Given the description of an element on the screen output the (x, y) to click on. 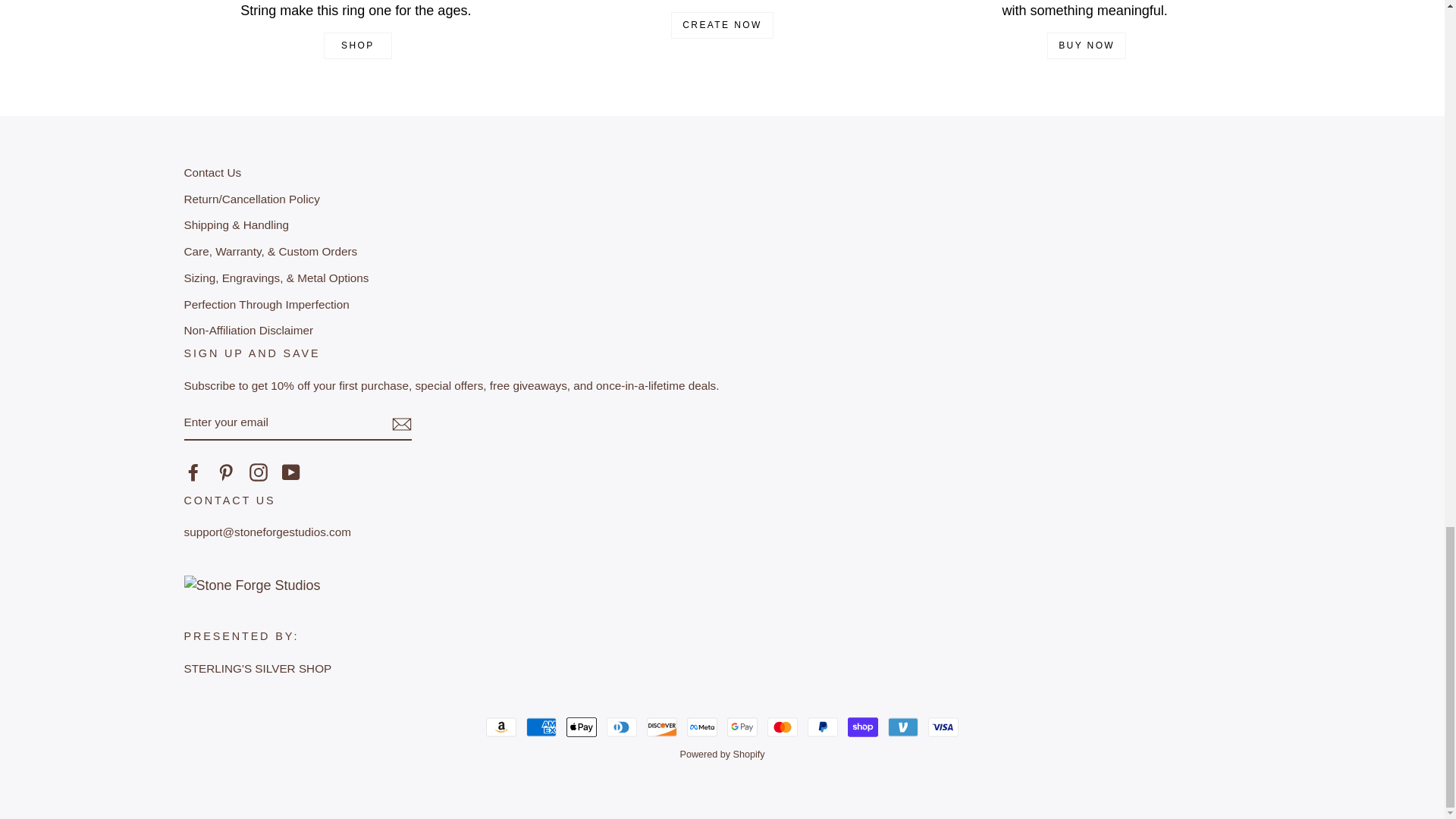
Amazon (501, 726)
Stone Forge Studios on Facebook (192, 472)
Stone Forge Studios on Pinterest (225, 472)
Stone Forge Studios on YouTube (290, 472)
Stone Forge Studios on Instagram (257, 472)
